Given the description of an element on the screen output the (x, y) to click on. 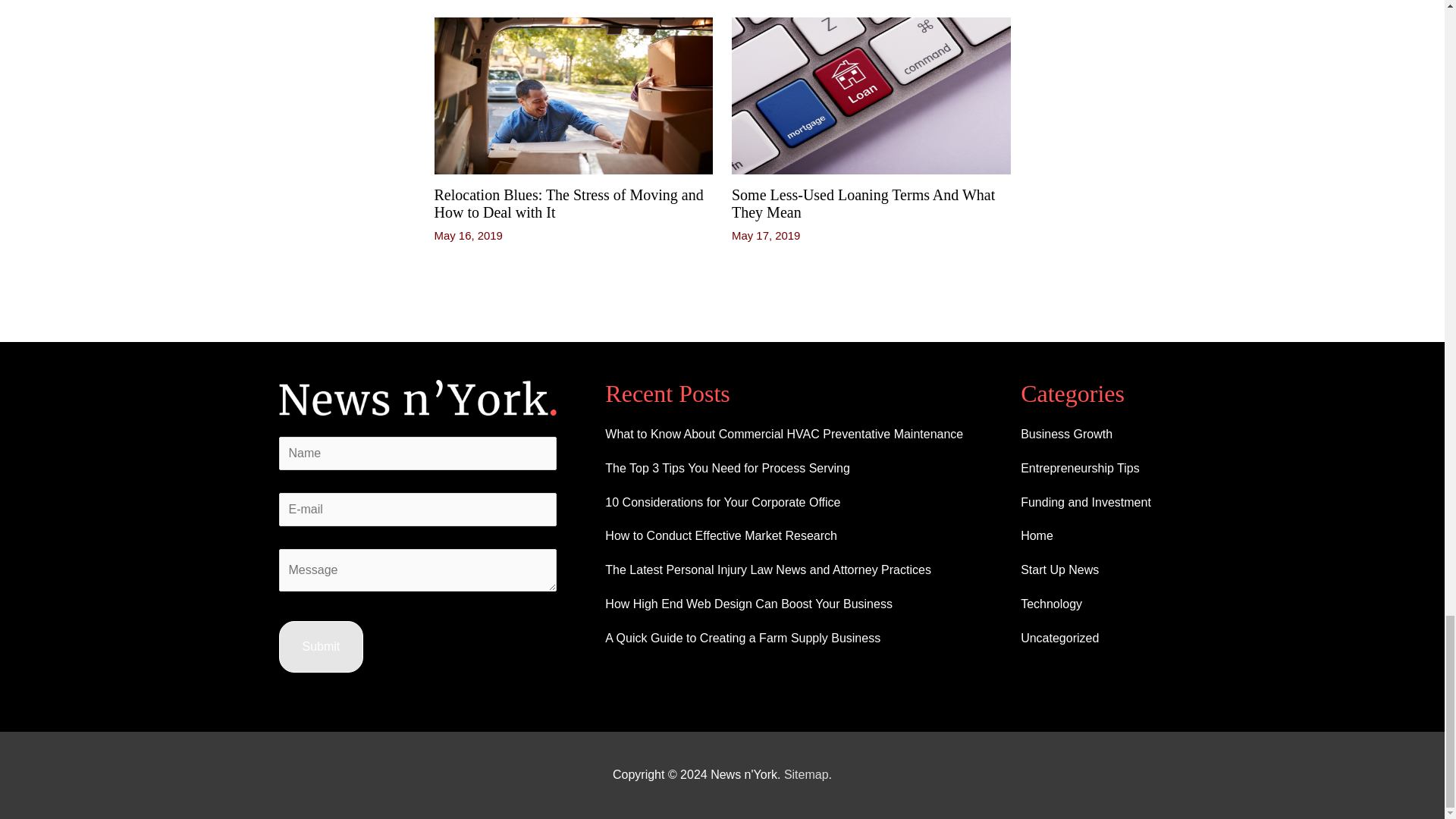
How to Conduct Effective Market Research (721, 535)
Some Less-Used Loaning Terms And What They Mean (863, 203)
How High End Web Design Can Boost Your Business (748, 603)
A Quick Guide to Creating a Farm Supply Business (742, 637)
What to Know About Commercial HVAC Preventative Maintenance (783, 433)
Submit (321, 646)
Business Growth (1066, 433)
Submit (321, 646)
The Top 3 Tips You Need for Process Serving (727, 468)
10 Considerations for Your Corporate Office (722, 502)
The Latest Personal Injury Law News and Attorney Practices (768, 569)
